Given the description of an element on the screen output the (x, y) to click on. 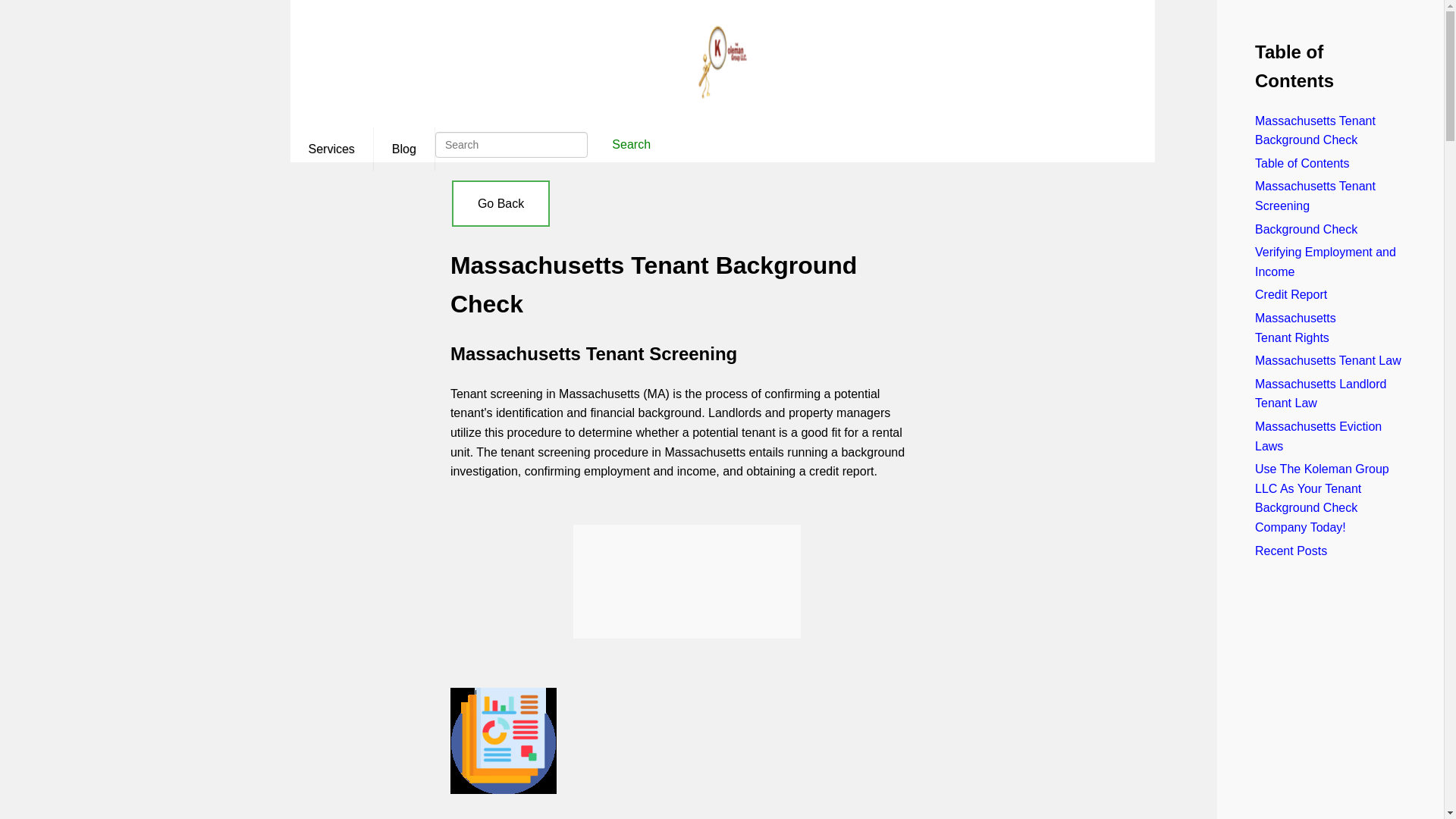
Tenant Background Check (686, 581)
Background Check (1305, 228)
Search (631, 144)
Table of Contents (1302, 163)
Massachusetts Landlord Tenant Law (1320, 393)
Massachusetts Tenant Rights (1295, 327)
Credit Report (1290, 294)
Massachusetts Tenant Background Check (1315, 130)
Go Back (500, 203)
